Given the description of an element on the screen output the (x, y) to click on. 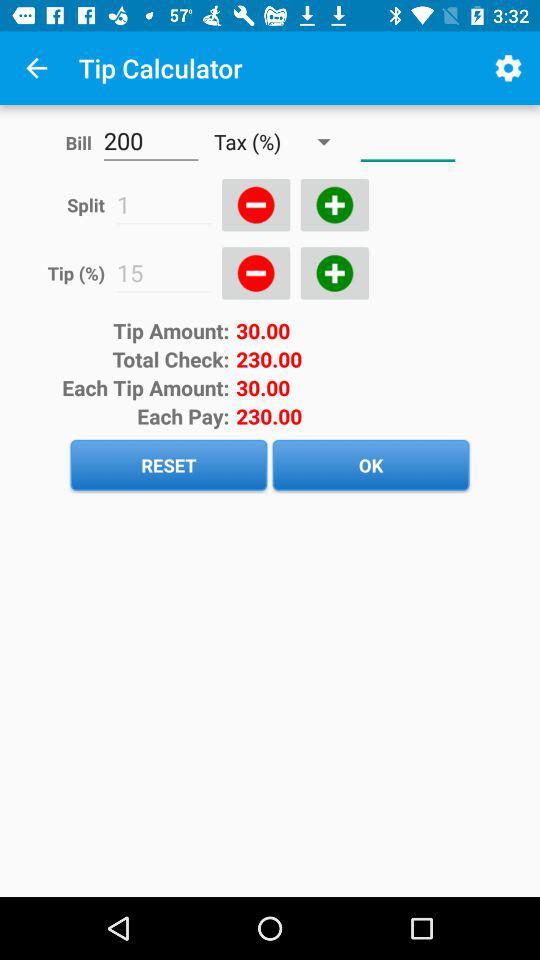
reduce amount (255, 205)
